Given the description of an element on the screen output the (x, y) to click on. 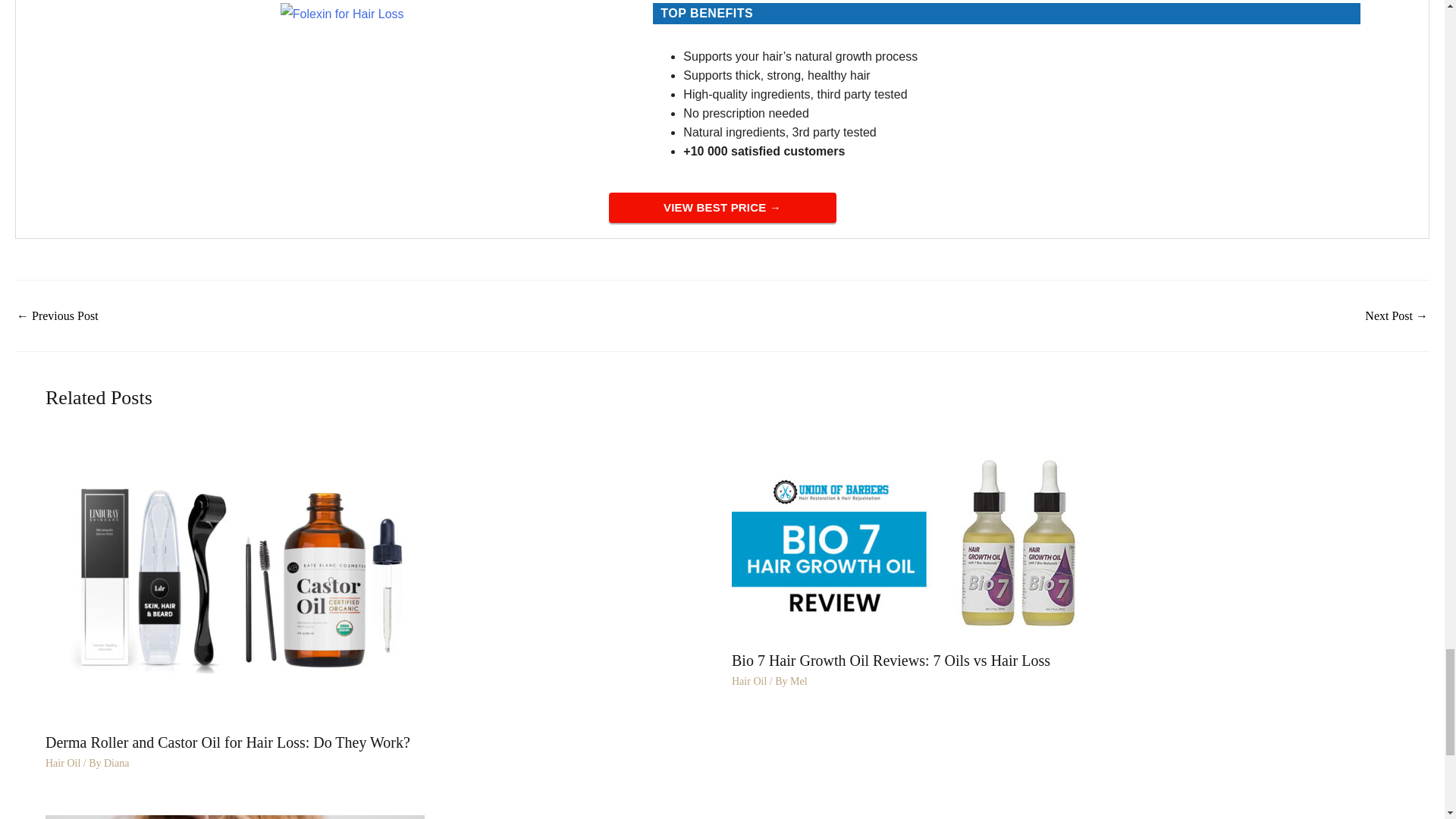
The Best Electric Shaver For Women's Pubic Hair (57, 316)
Derma Roller and Castor Oil for Hair Loss: Do They Work? (235, 580)
View all posts by Diana (116, 763)
